Given the description of an element on the screen output the (x, y) to click on. 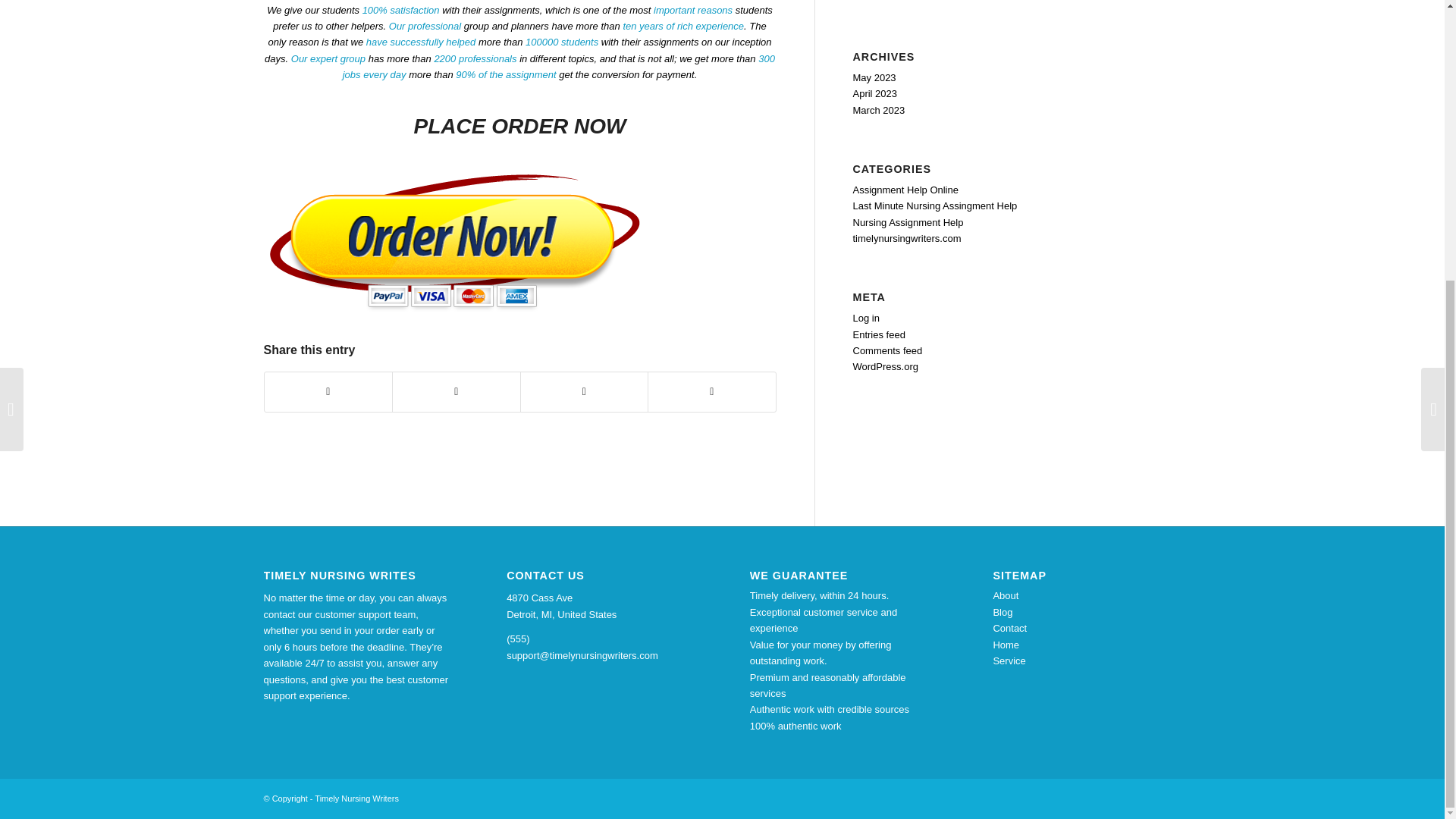
PLACE ORDER NOW (519, 126)
Nursing Assignment Help (906, 222)
Last Minute Nursing Assingment Help (933, 205)
March 2023 (877, 110)
April 2023 (873, 93)
ten years of rich experience (683, 25)
timelynursingwriters.com (905, 238)
Our professional (424, 25)
have successfully helped (421, 41)
May 2023 (873, 77)
